Given the description of an element on the screen output the (x, y) to click on. 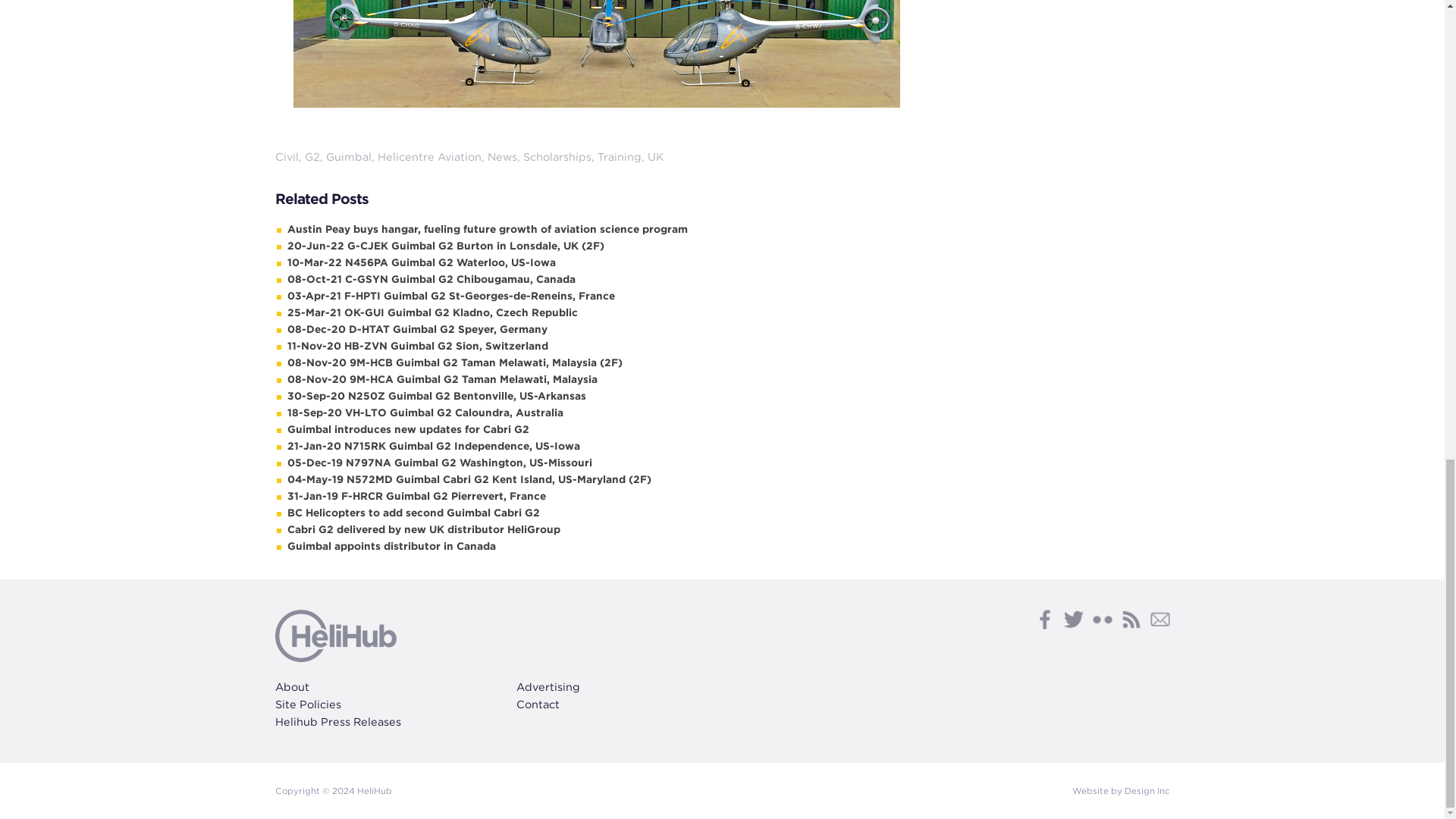
Helihub (335, 634)
Flickr (1102, 619)
Twitter (1072, 619)
RSS (1130, 619)
Subscribe (1159, 619)
Facebook (1043, 619)
